Given the description of an element on the screen output the (x, y) to click on. 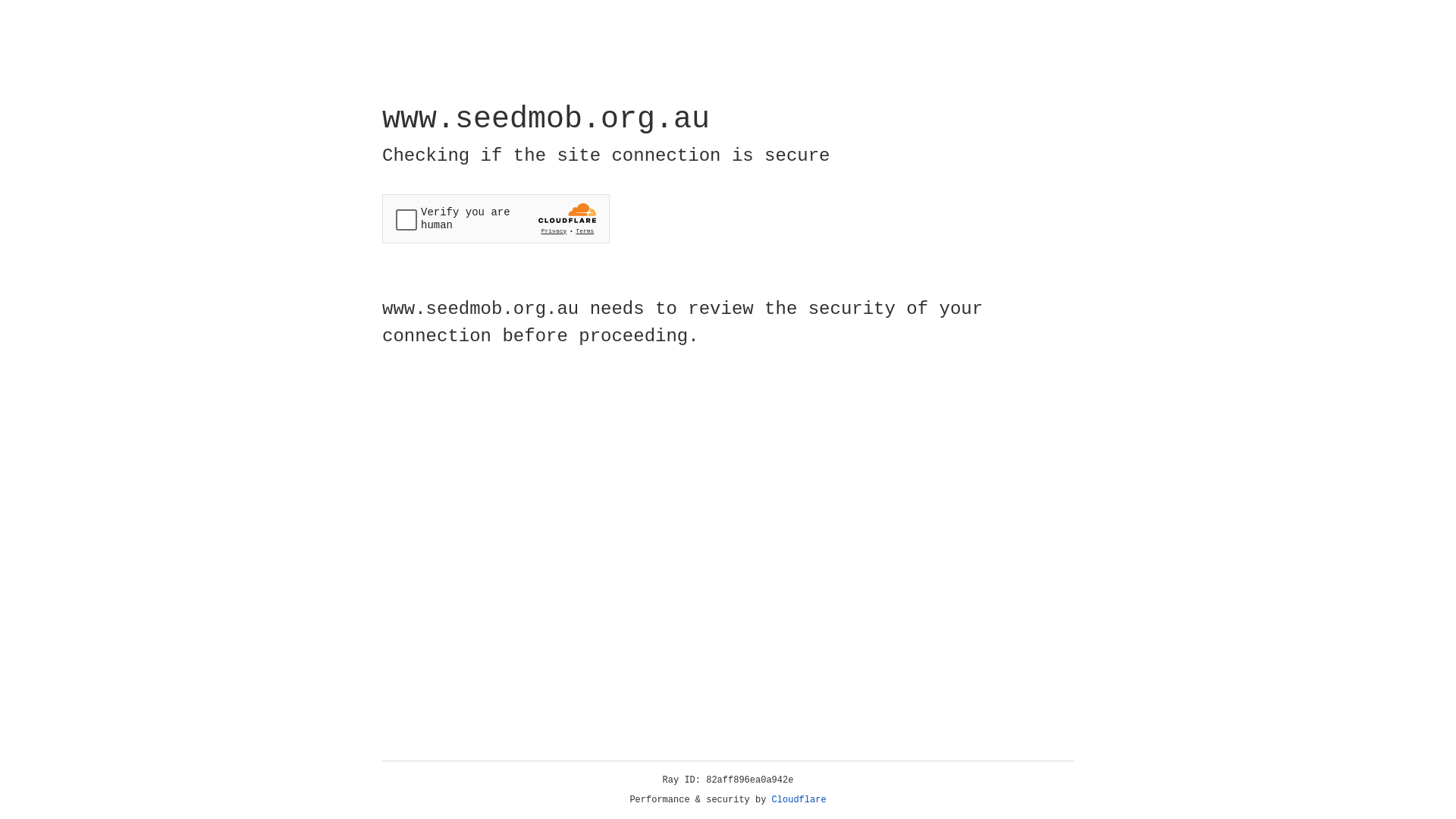
Cloudflare Element type: text (798, 799)
Widget containing a Cloudflare security challenge Element type: hover (495, 218)
